Given the description of an element on the screen output the (x, y) to click on. 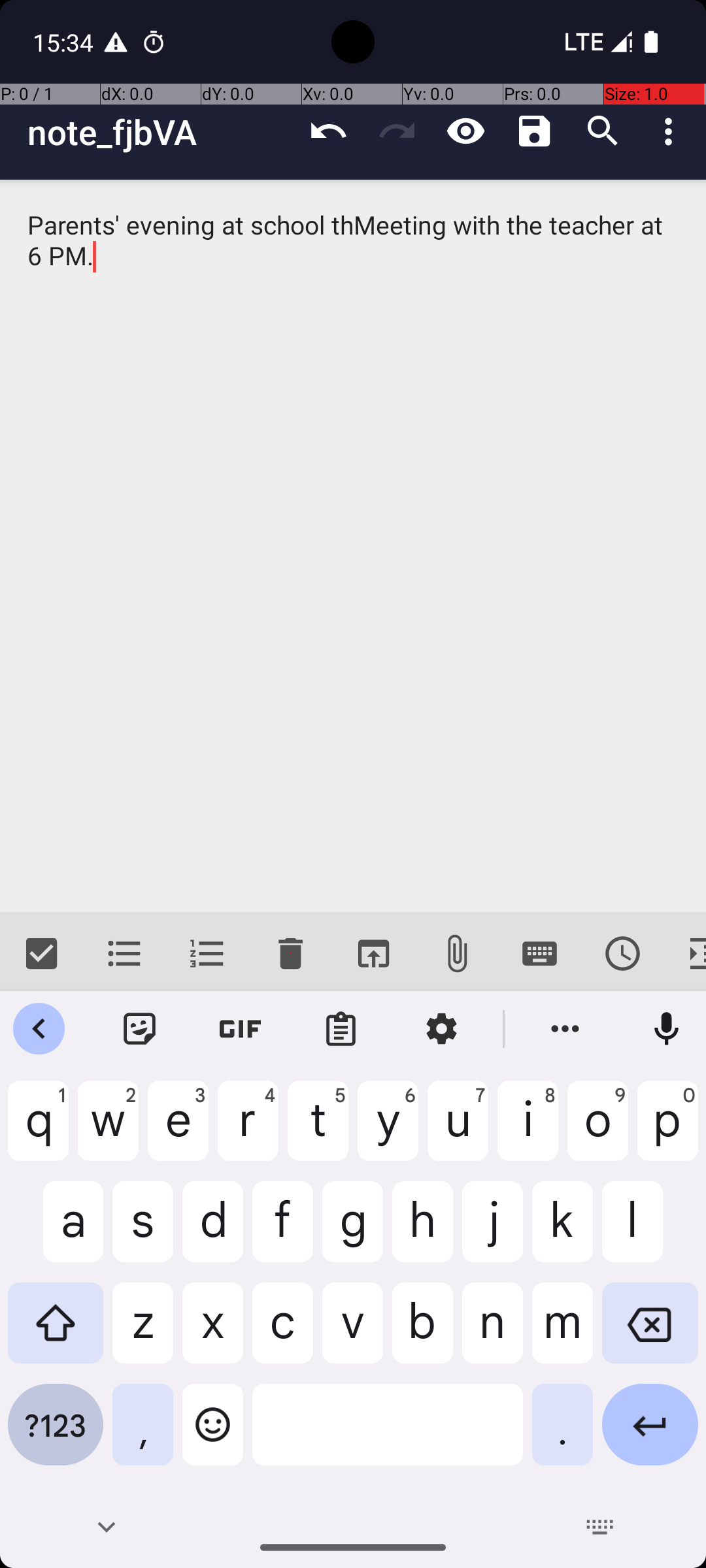
note_fjbVA Element type: android.widget.TextView (160, 131)
Parents' evening at school thMeeting with the teacher at 6 PM. Element type: android.widget.EditText (353, 545)
